Given the description of an element on the screen output the (x, y) to click on. 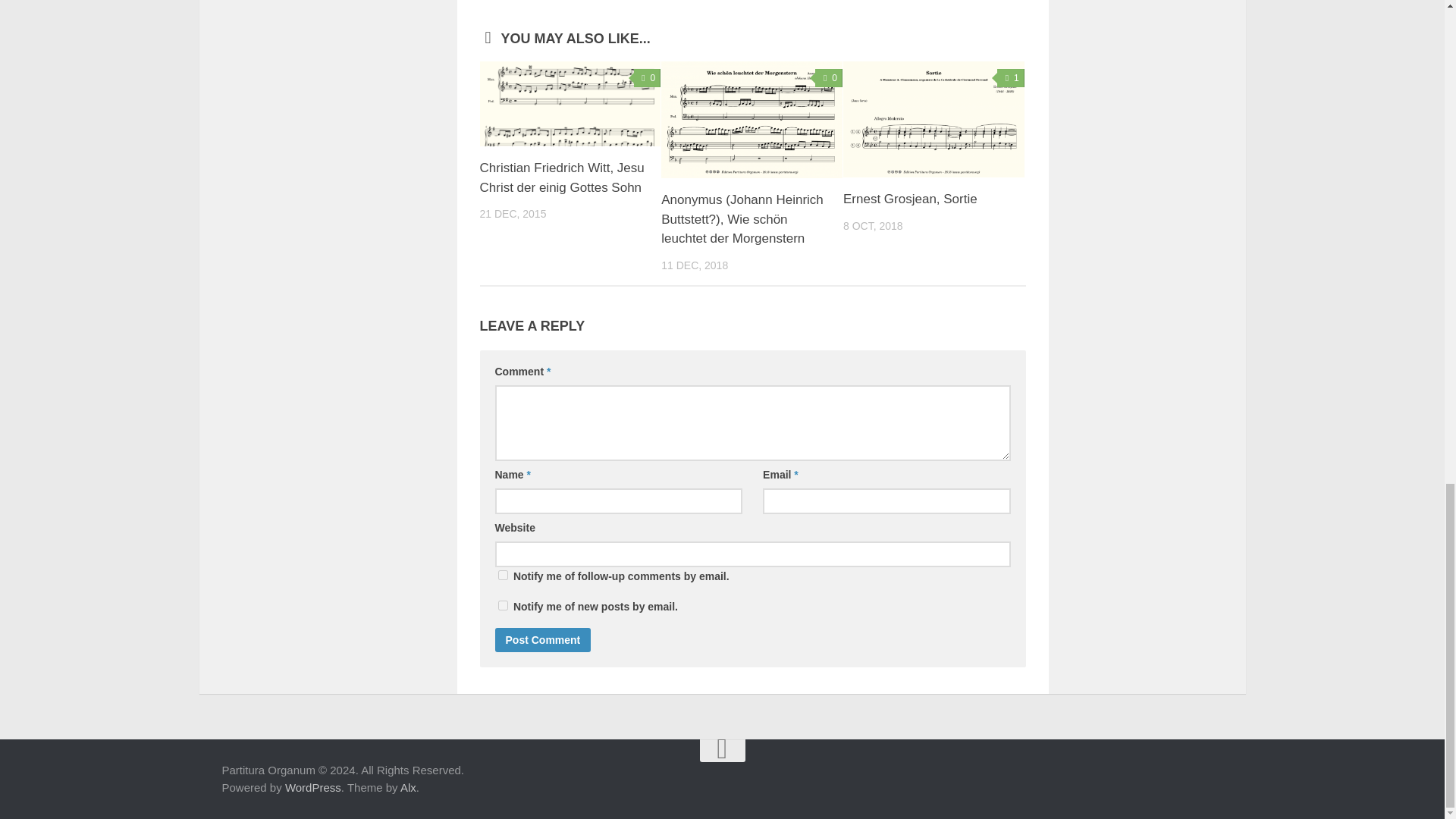
1 (1011, 77)
Alx (408, 787)
Ernest Grosjean, Sortie (934, 119)
Christian Friedrich Witt, Jesu Christ der einig Gottes Sohn (570, 103)
subscribe (501, 605)
Ernest Grosjean, Sortie (909, 198)
subscribe (501, 574)
0 (829, 77)
Post Comment (543, 639)
Ernest Grosjean, Sortie (909, 198)
0 (647, 77)
Christian Friedrich Witt, Jesu Christ der einig Gottes Sohn (561, 177)
Post Comment (543, 639)
WordPress (312, 787)
Christian Friedrich Witt, Jesu Christ der einig Gottes Sohn (561, 177)
